Given the description of an element on the screen output the (x, y) to click on. 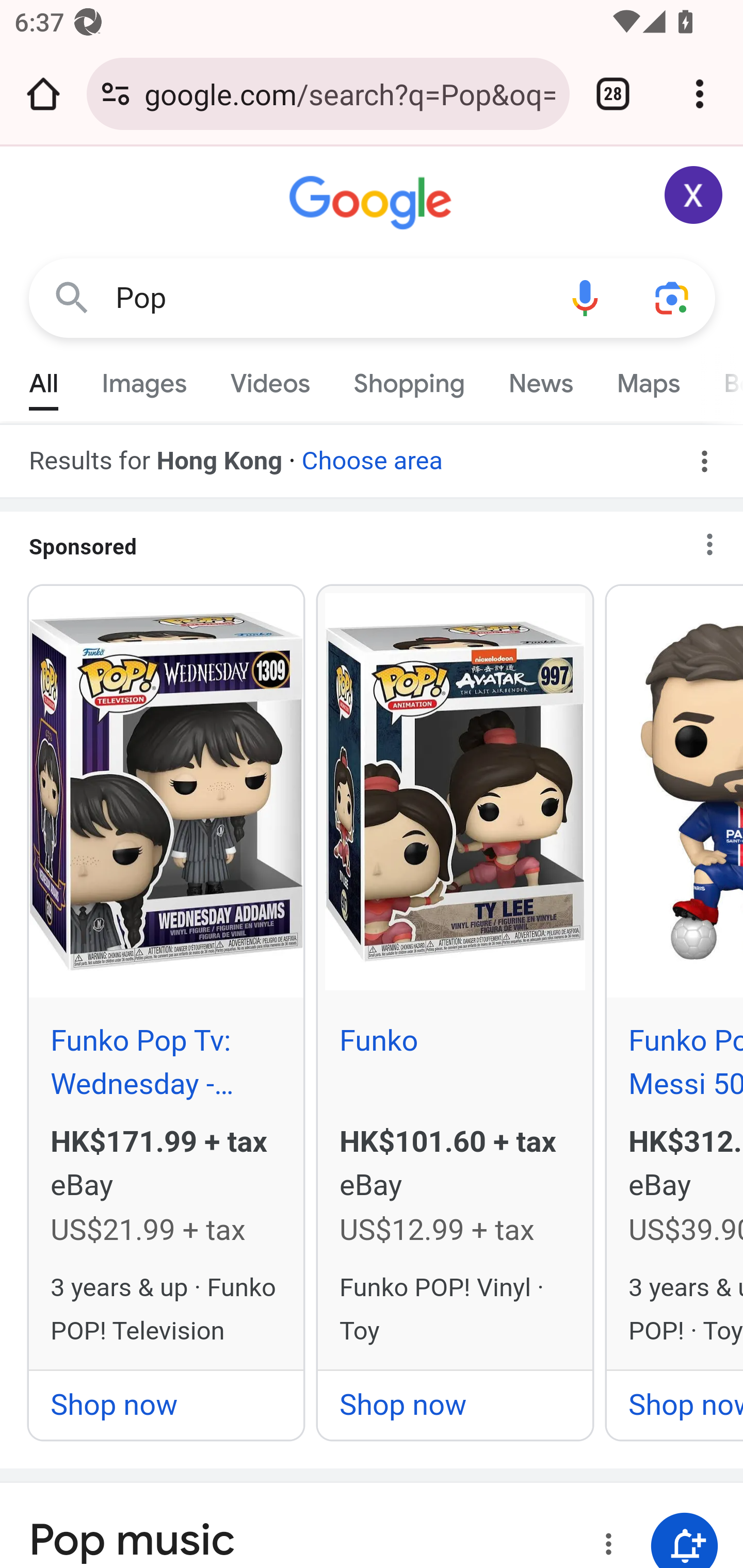
Open the home page (43, 93)
Connection is secure (115, 93)
Switch or close tabs (612, 93)
Customize and control Google Chrome (699, 93)
Google (372, 203)
Google Account: Xiaoran (zxrappiumtest@gmail.com) (694, 195)
Google Search (71, 296)
Search using your camera or photos (672, 296)
Pop (328, 297)
Images (144, 378)
Videos (270, 378)
Shopping (408, 378)
News (540, 378)
Maps (647, 378)
Choose area (371, 453)
Why this ad? (718, 538)
Shop now Shop now Shop now (165, 1404)
Shop now Shop now Shop now (455, 1404)
Shop now Shop now Shop now (675, 1404)
Get notifications about Pop music (684, 1534)
More options (605, 1542)
